Given the description of an element on the screen output the (x, y) to click on. 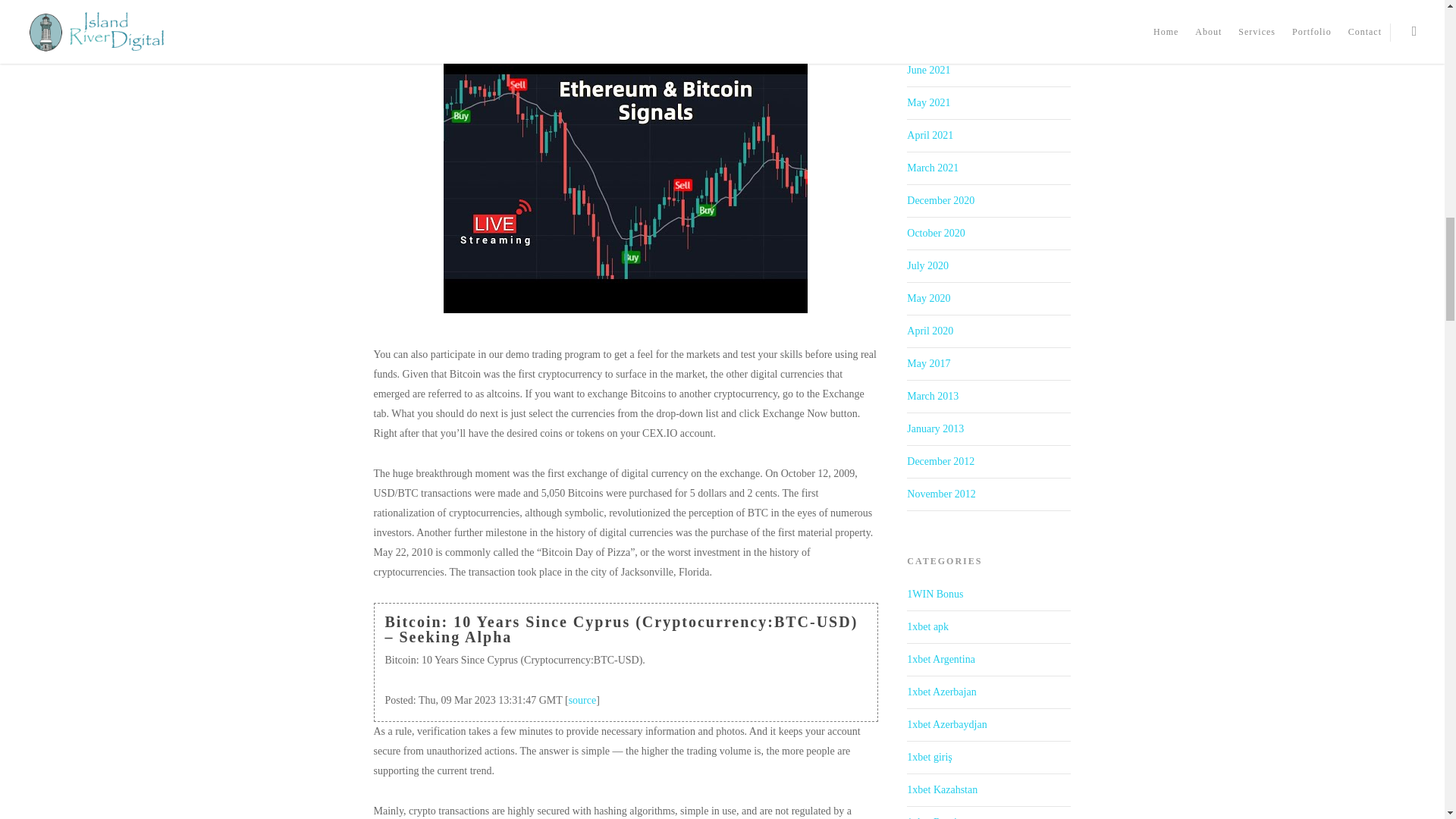
source (582, 699)
